Given the description of an element on the screen output the (x, y) to click on. 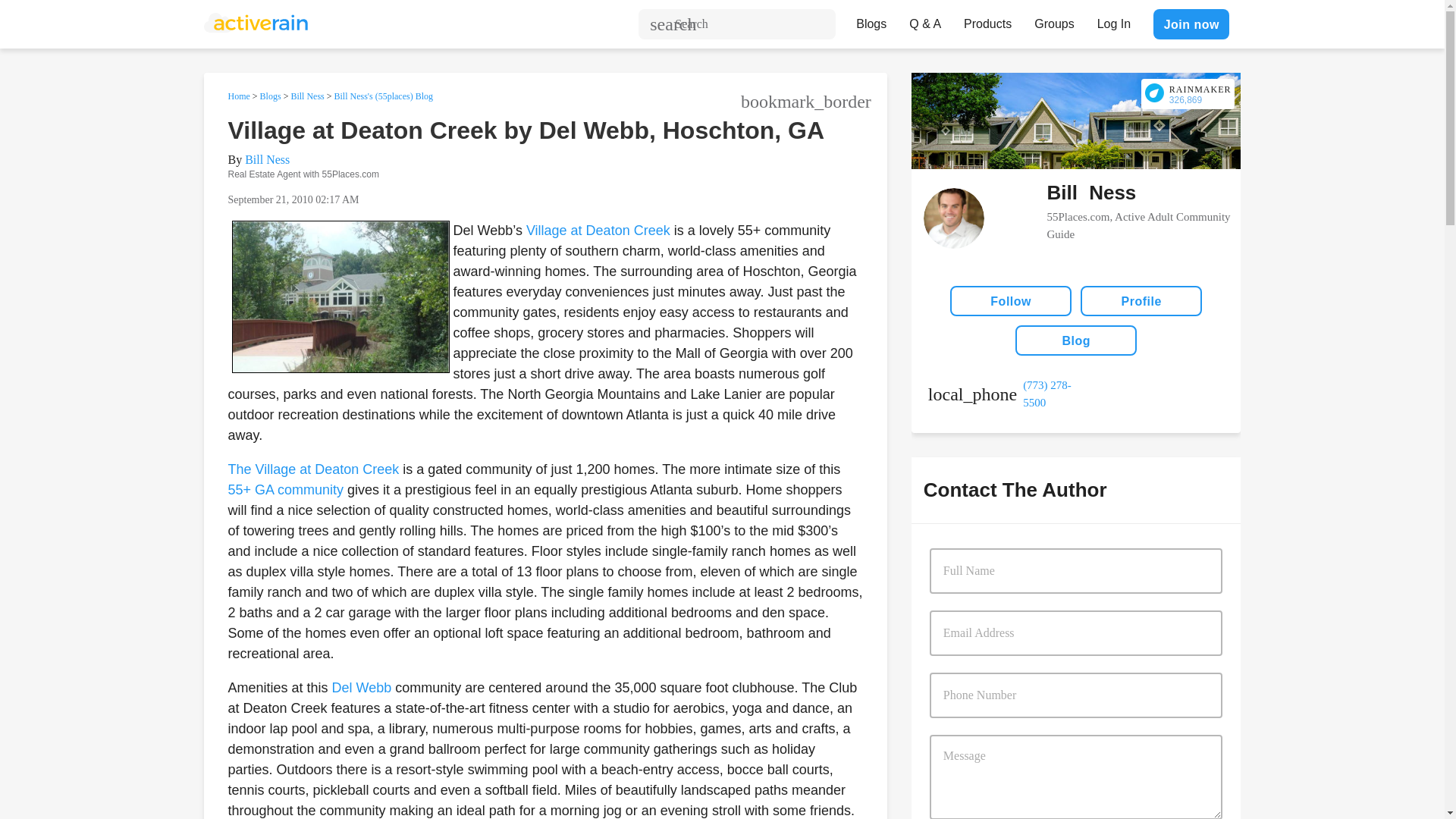
Village at Deaton Creek (597, 230)
work (1001, 393)
Log In (1113, 19)
Village at Deaton Creek (597, 230)
Village at Deaton Creek by Del Webb, GA (340, 296)
Products (986, 19)
Del Webb (361, 687)
The Village at Deaton Creek (312, 468)
Blogs (270, 95)
Bill Ness (266, 159)
Join now (1190, 24)
Home (237, 95)
Groups (1053, 19)
Bill Ness (306, 95)
The Village at Deaton Creek (312, 468)
